Given the description of an element on the screen output the (x, y) to click on. 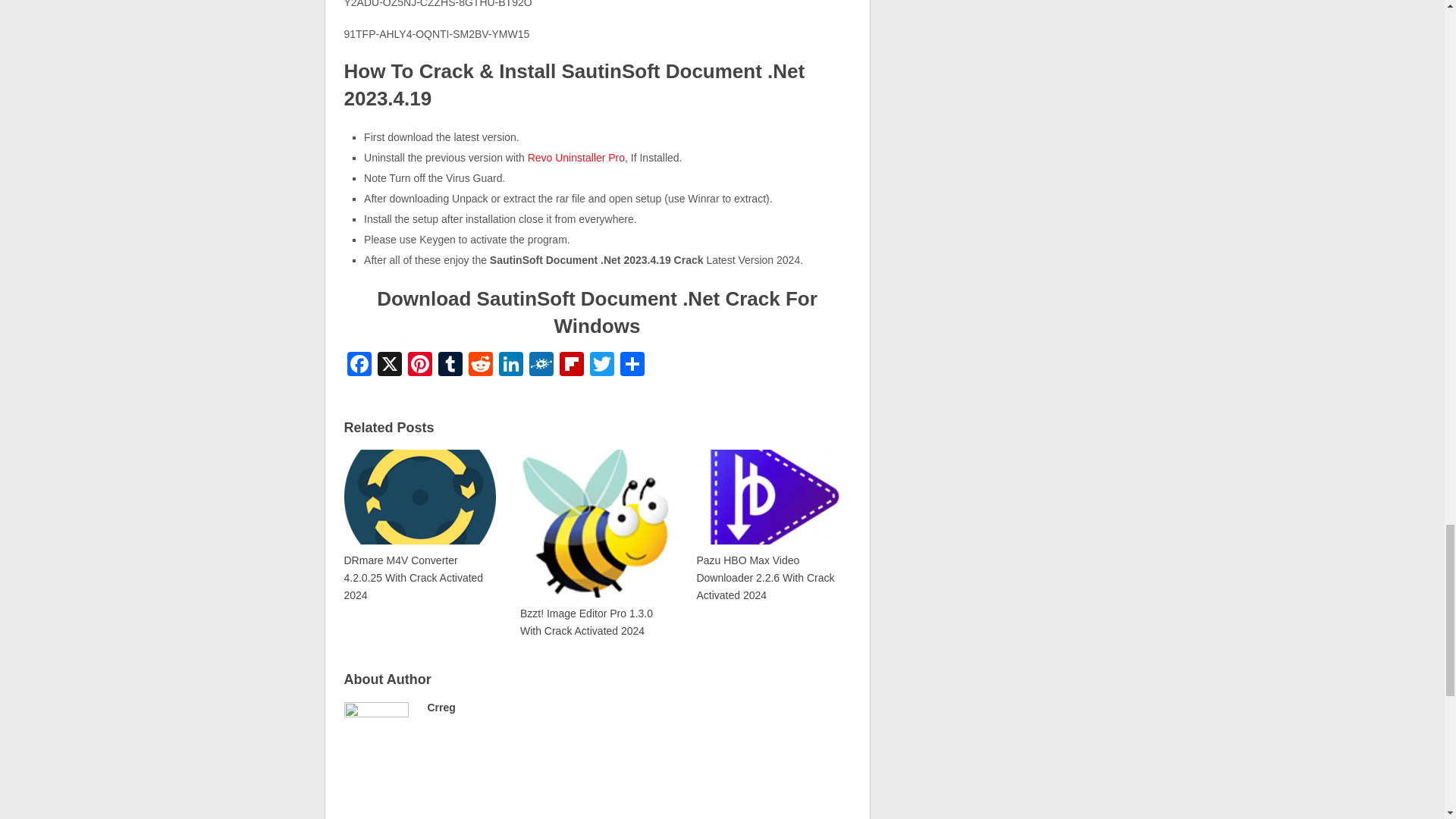
Twitter (601, 366)
Twitter (601, 366)
Reddit (480, 366)
X (389, 366)
Facebook (358, 366)
LinkedIn (510, 366)
Revo Uninstaller Pro (575, 157)
Reddit (480, 366)
Pinterest (419, 366)
DRmare M4V Converter 4.2.0.25 With Crack Activated 2024 (419, 524)
Flipboard (571, 366)
Flipboard (571, 366)
Facebook (358, 366)
Tumblr (450, 366)
LinkedIn (510, 366)
